Given the description of an element on the screen output the (x, y) to click on. 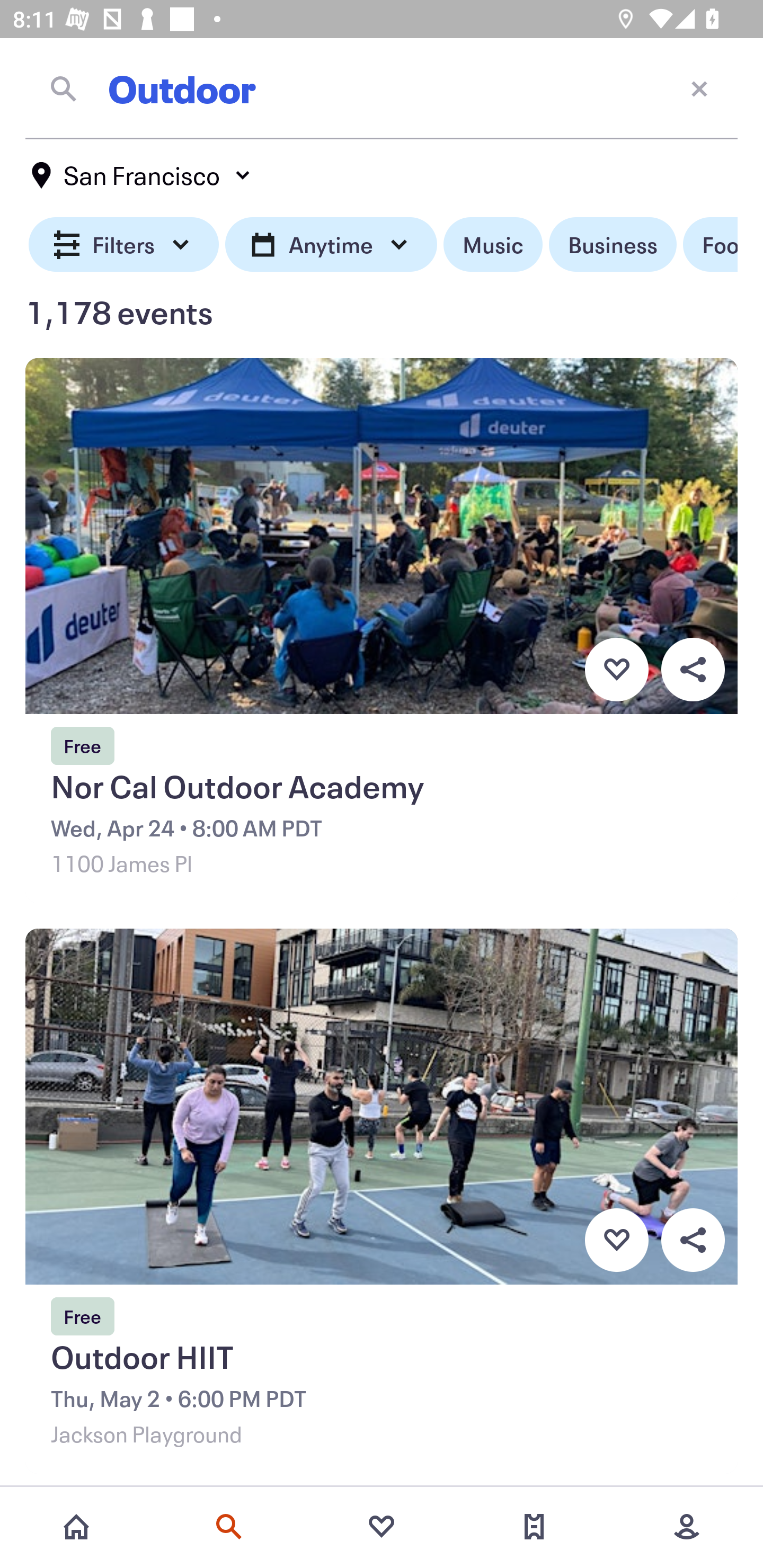
Outdoor Close current screen (381, 88)
Close current screen (699, 88)
San Francisco (141, 175)
Filters (123, 244)
Anytime (331, 244)
Music (492, 244)
Business (612, 244)
Favorite button (616, 669)
Overflow menu button (692, 669)
Favorite button (616, 1239)
Overflow menu button (692, 1239)
Home (76, 1526)
Search events (228, 1526)
Favorites (381, 1526)
Tickets (533, 1526)
More (686, 1526)
